Given the description of an element on the screen output the (x, y) to click on. 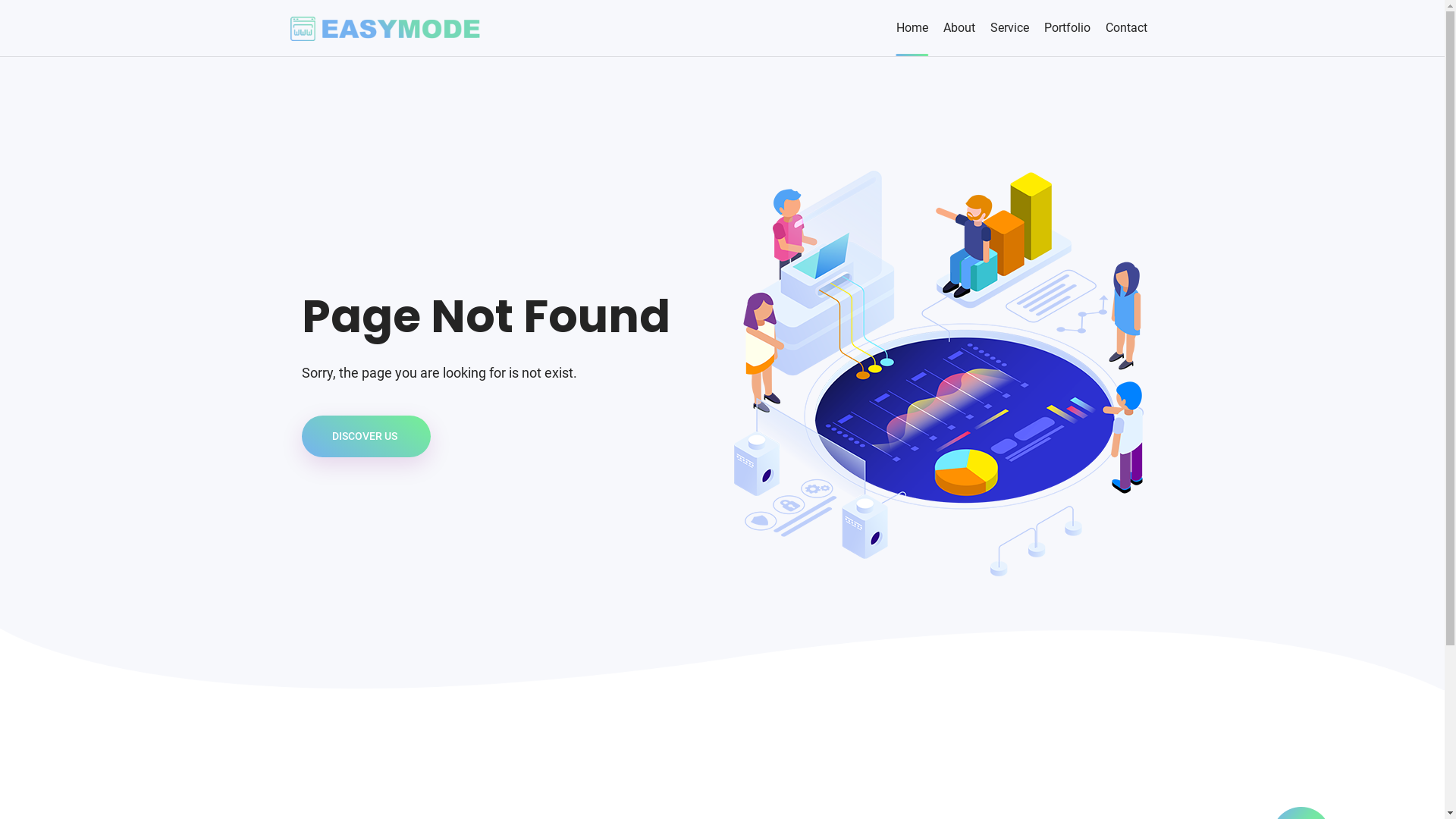
Service Element type: text (1009, 28)
Portfolio Element type: text (1066, 28)
About Element type: text (958, 28)
DISCOVER US Element type: text (365, 436)
Contact Element type: text (1126, 28)
Home Element type: text (911, 28)
